Given the description of an element on the screen output the (x, y) to click on. 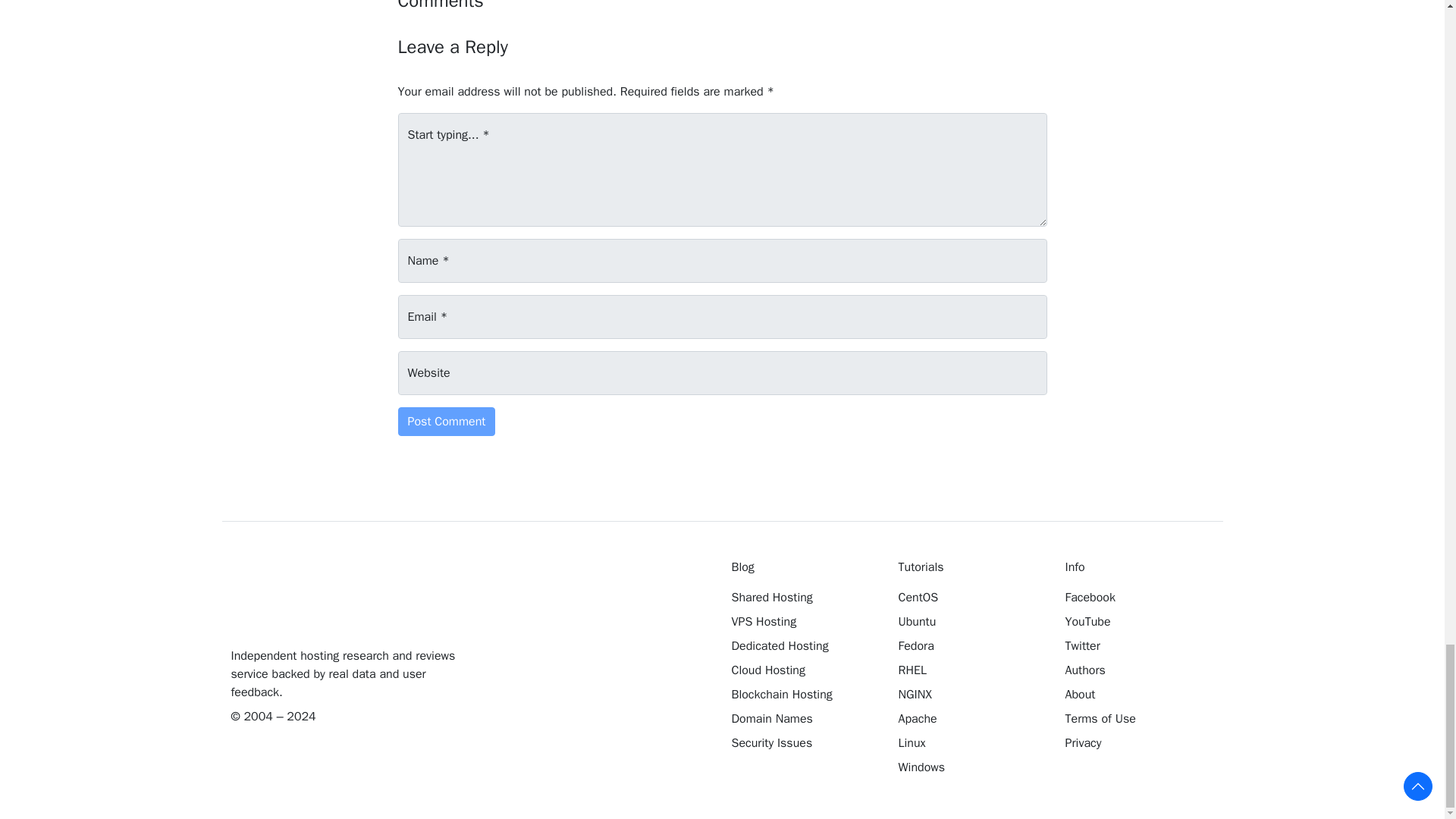
VPS Hosting (803, 621)
Shared Hosting (803, 597)
Post Comment (446, 421)
Dedicated Hosting (803, 646)
Post Comment (446, 421)
Domain Names (803, 719)
Blockchain Hosting (803, 694)
Cloud Hosting (803, 669)
